Given the description of an element on the screen output the (x, y) to click on. 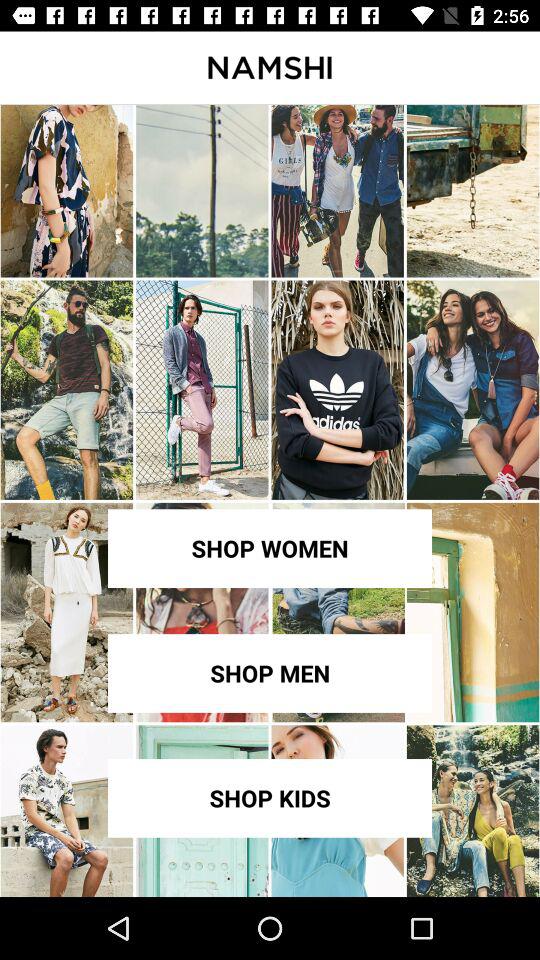
jump until the shop men icon (270, 673)
